Given the description of an element on the screen output the (x, y) to click on. 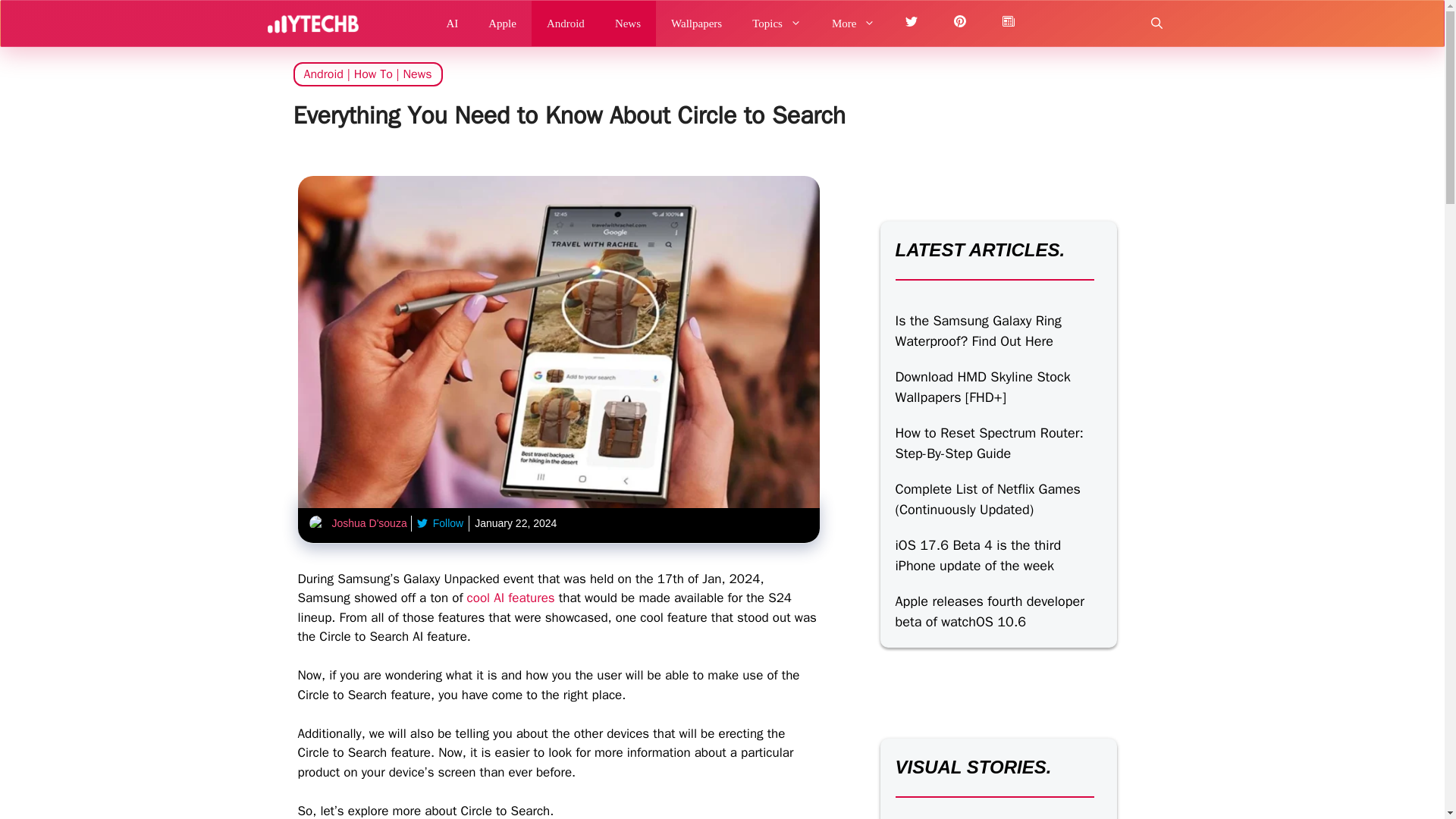
Joshua D'souza (369, 522)
YTECHB (312, 22)
Follow (439, 523)
News (417, 73)
How To (373, 73)
Wallpapers (696, 22)
Topics (776, 22)
AI (451, 22)
News (627, 22)
Apple (502, 22)
cool AI features (510, 597)
Android (565, 22)
More (853, 22)
Android (322, 73)
